Given the description of an element on the screen output the (x, y) to click on. 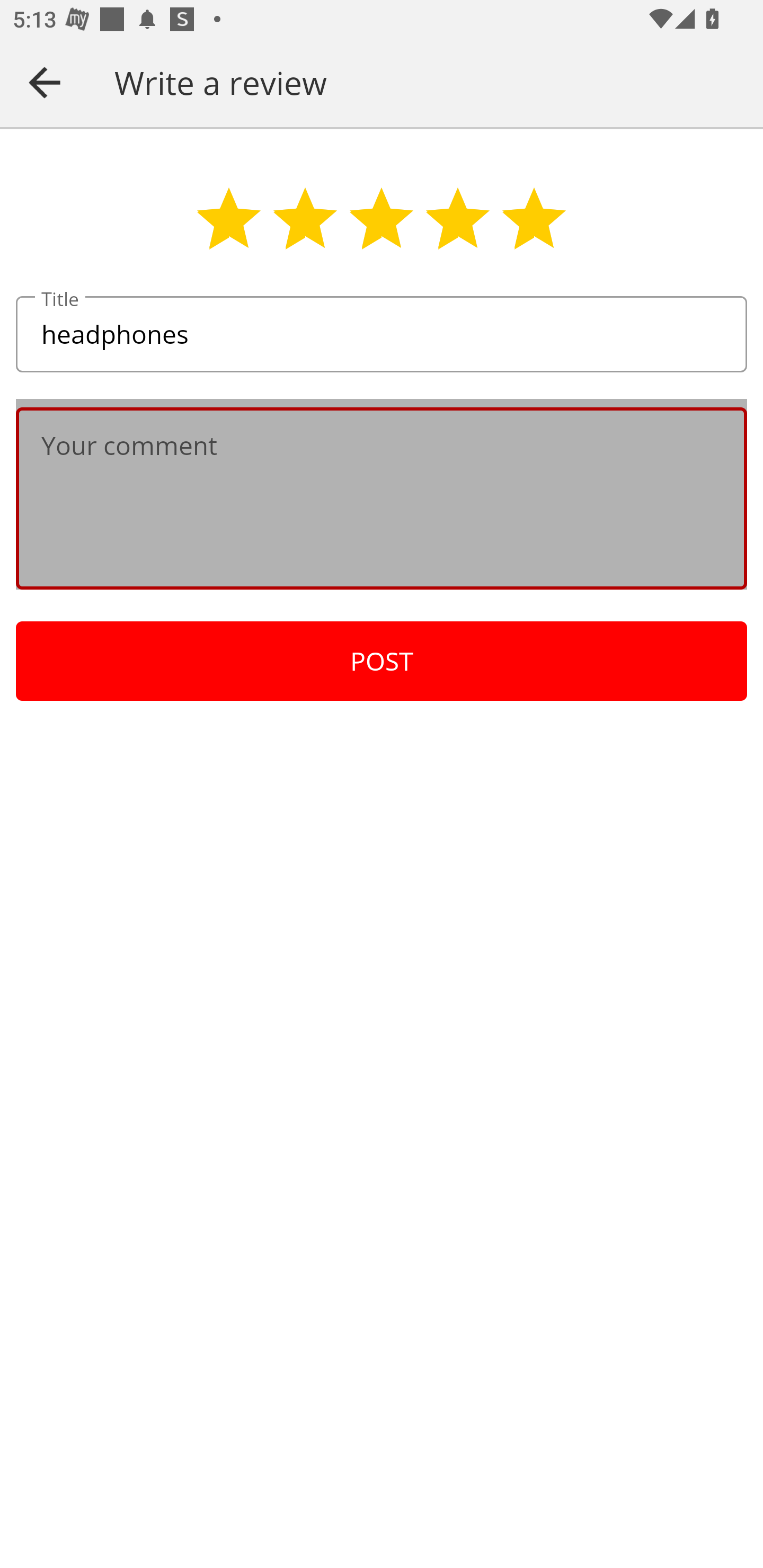
Navigate up (44, 82)
headphones (381, 334)
Your comment (381, 498)
POST (381, 660)
